Given the description of an element on the screen output the (x, y) to click on. 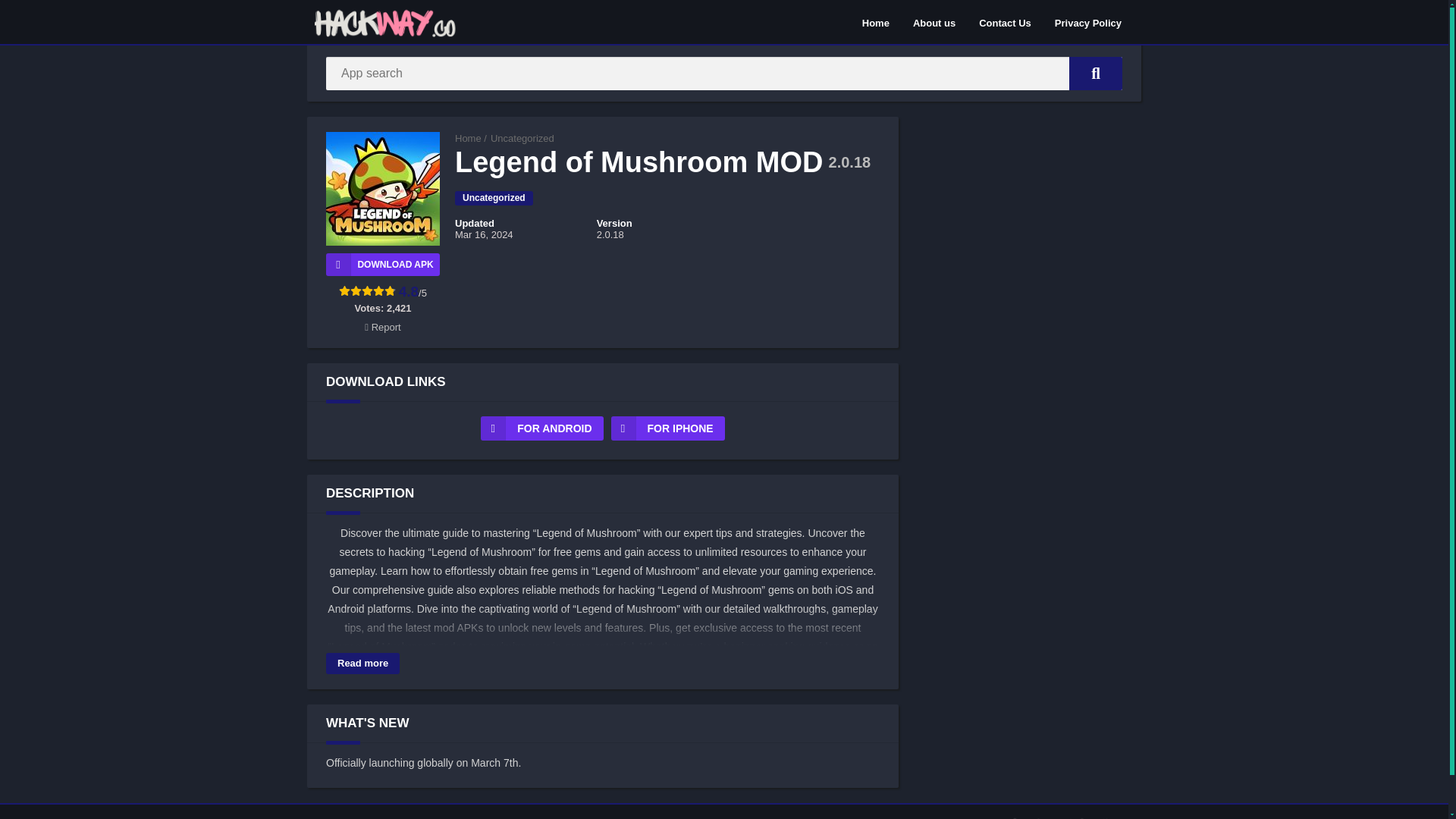
FOR ANDROID (541, 428)
DOWNLOAD APK (382, 264)
Home (875, 22)
Download APK (382, 264)
Uncategorized (522, 138)
Uncategorized (493, 197)
Contact Us (1005, 22)
FOR IPHONE (668, 428)
About us (933, 22)
Home (467, 138)
App search (1095, 73)
Privacy Policy (1087, 22)
HACKWAY.CO (467, 138)
